Given the description of an element on the screen output the (x, y) to click on. 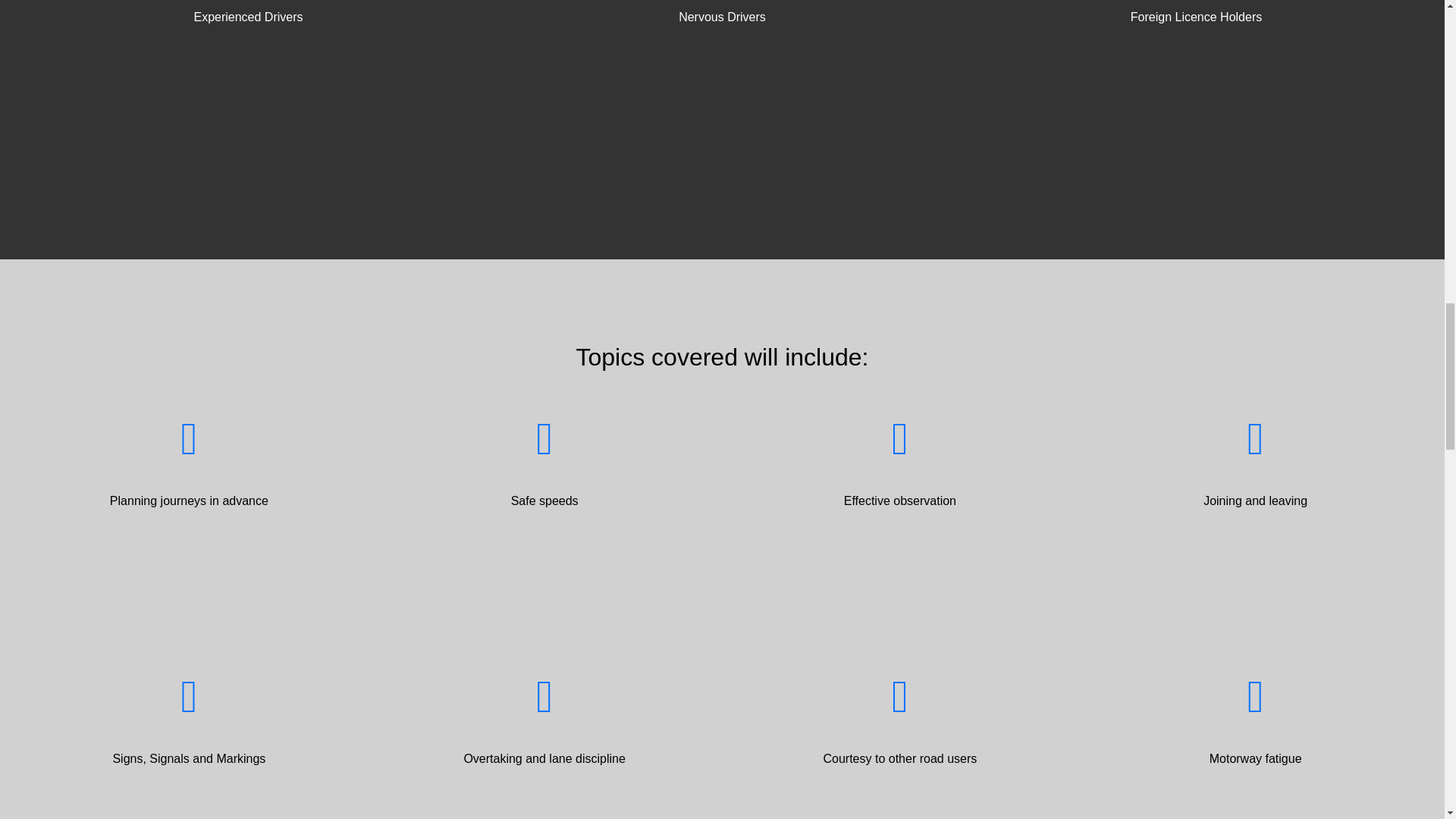
Foreign Licence Holders (1195, 49)
Nervous Drivers (721, 49)
Experienced Drivers (247, 49)
